Given the description of an element on the screen output the (x, y) to click on. 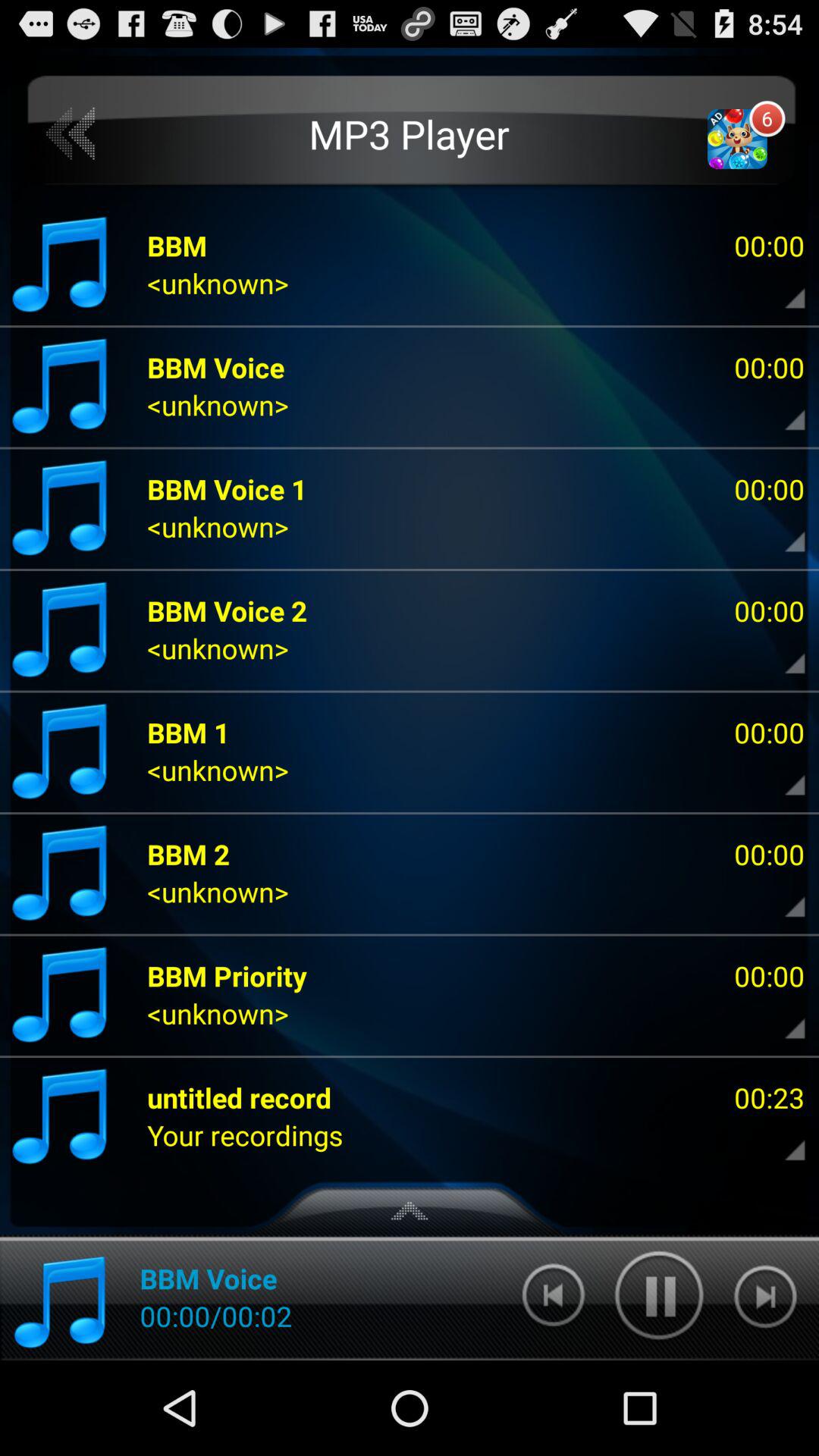
pick the song (782, 530)
